Given the description of an element on the screen output the (x, y) to click on. 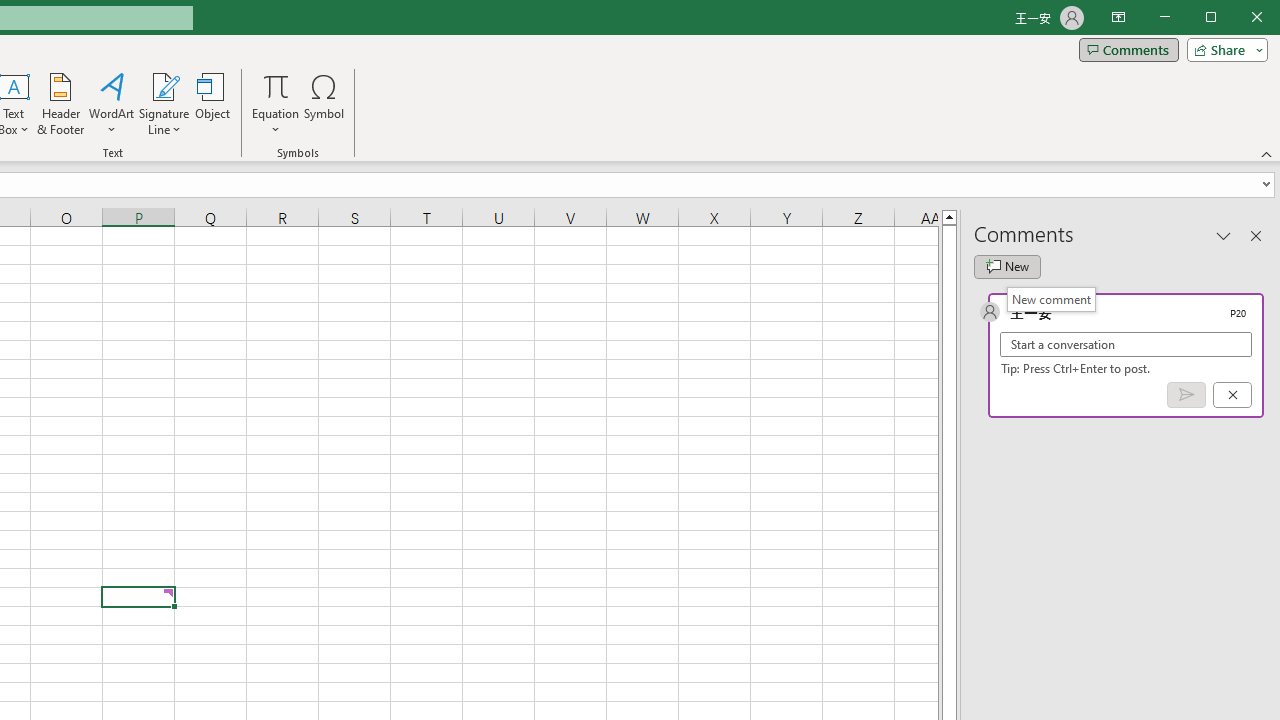
Task Pane Options (1224, 235)
Minimize (1217, 18)
Collapse the Ribbon (1267, 154)
Start a conversation (1126, 344)
More Options (275, 123)
Equation (275, 86)
Close (1261, 18)
Cancel (1232, 395)
Object... (213, 104)
Maximize (1239, 18)
